Given the description of an element on the screen output the (x, y) to click on. 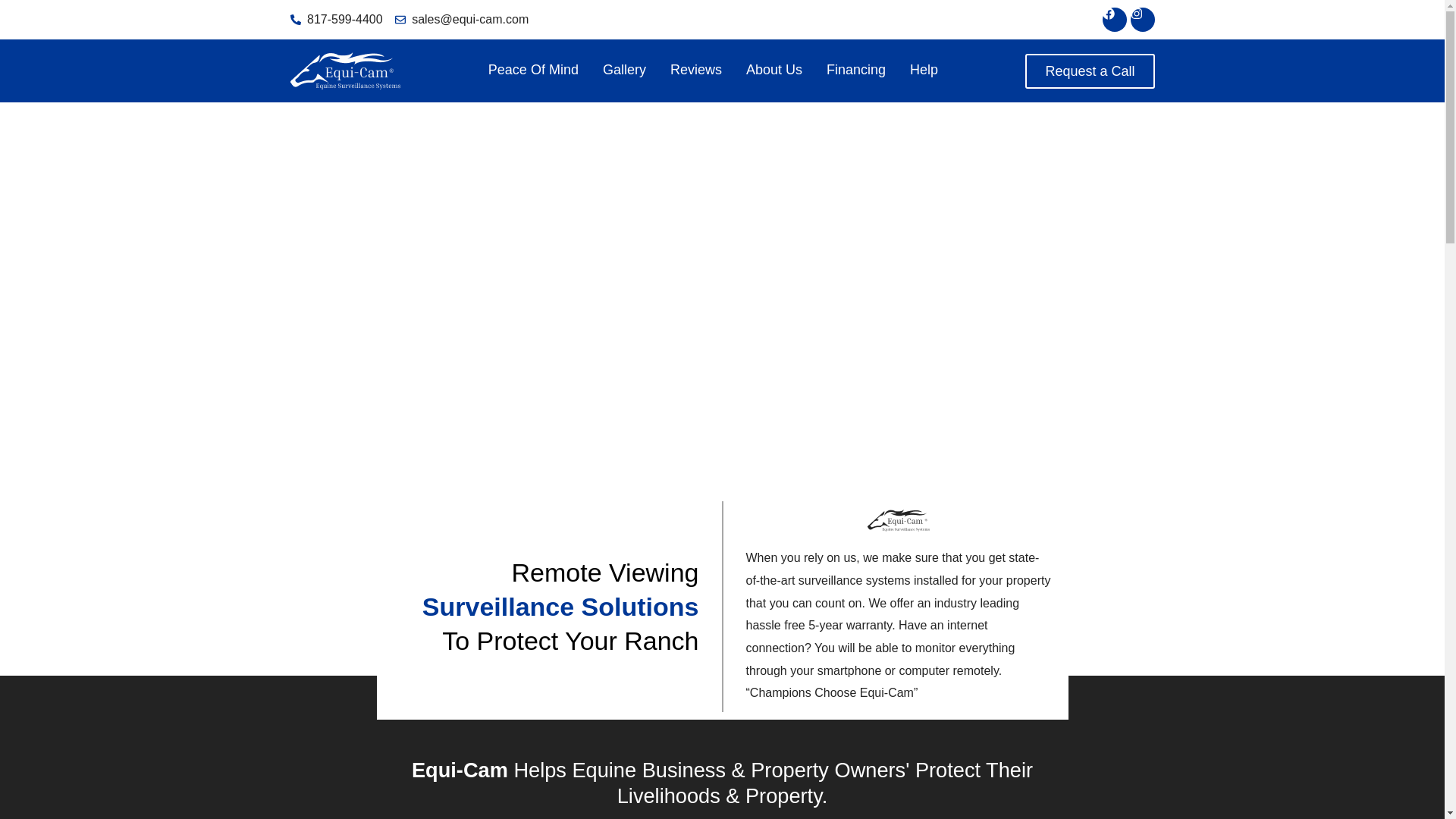
Help (924, 69)
Reviews (695, 69)
About Us (773, 69)
Peace Of Mind (533, 69)
Request a Call (1089, 70)
Facebook (1114, 19)
Instagram (1141, 19)
817-599-4400 (335, 19)
Financing (855, 69)
Gallery (624, 69)
